Given the description of an element on the screen output the (x, y) to click on. 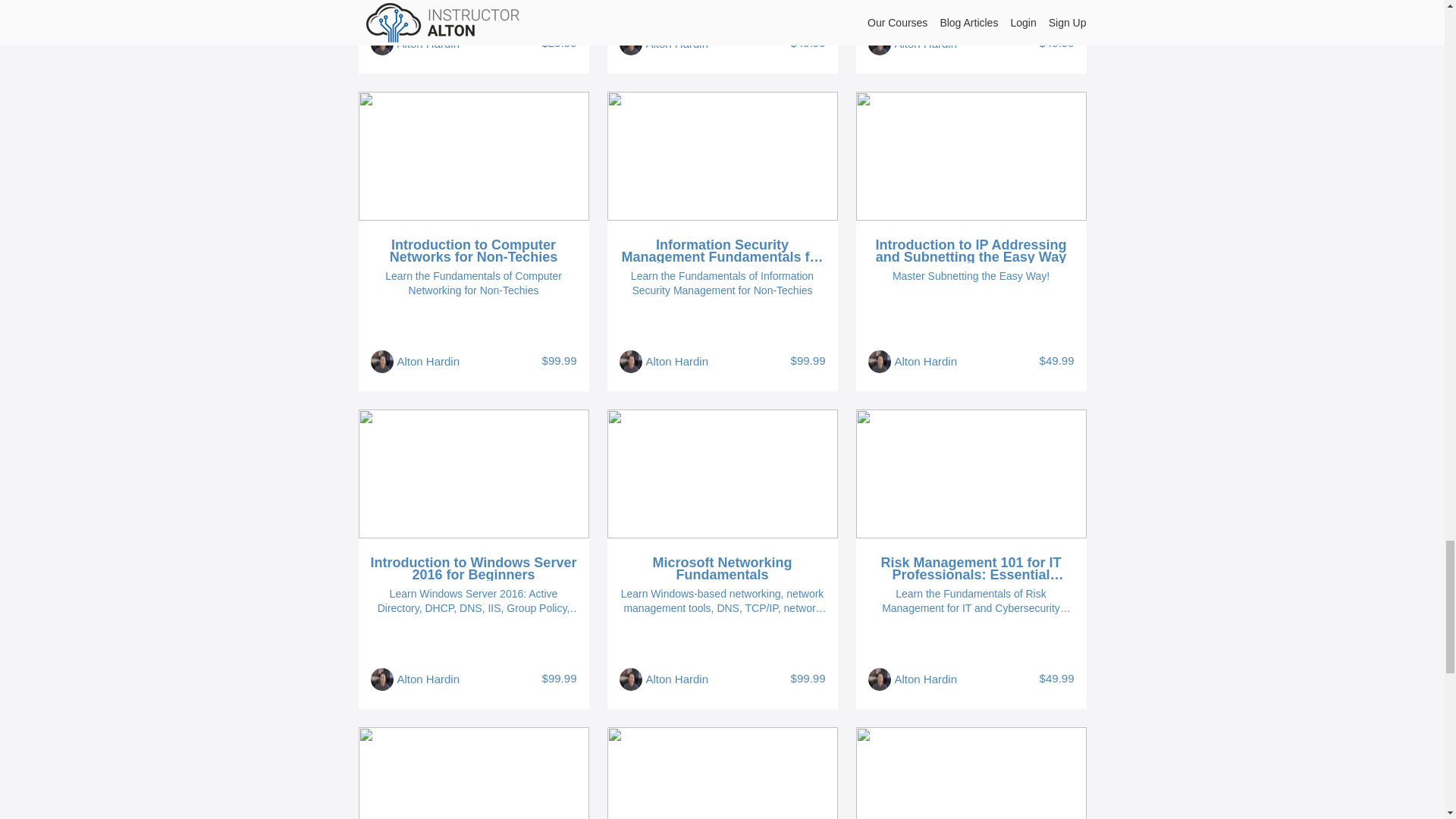
Introduction to IP Addressing and Subnetting the Easy Way (970, 250)
Alton Hardin (677, 43)
Introduction to Windows Server 2016 for Beginners (472, 568)
Alton Hardin (428, 43)
Alton Hardin (428, 361)
Master Subnetting the Easy Way! (970, 276)
Alton Hardin (926, 43)
Information Security Management Fundamentals for Non-Techies (721, 250)
